Given the description of an element on the screen output the (x, y) to click on. 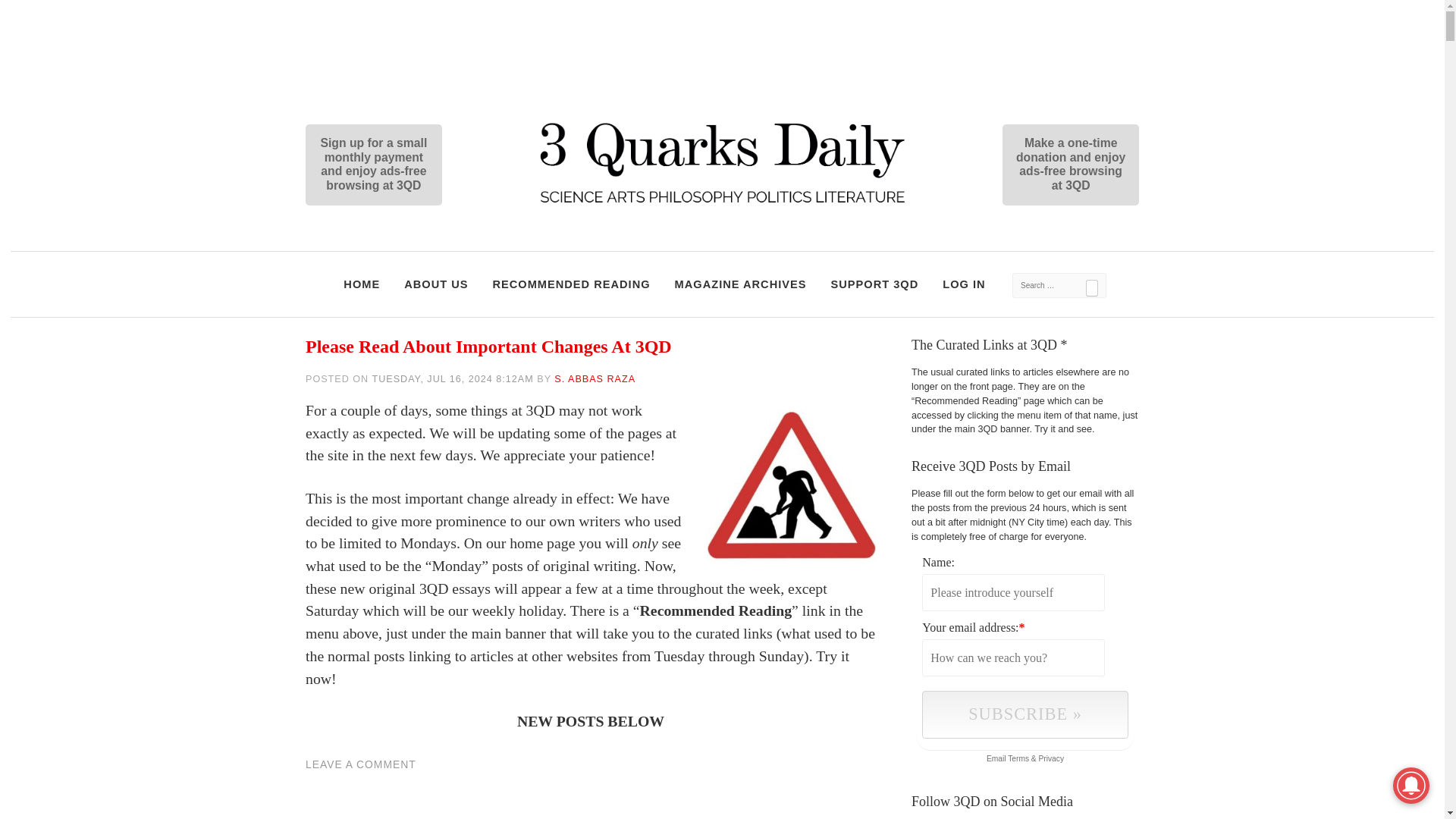
RECOMMENDED READING (570, 284)
click to join (1023, 714)
LOG IN (963, 284)
Email subscriptions terms of service (1018, 758)
Please Read About Important Changes At 3QD (488, 346)
TUESDAY, JUL 16, 2024 8:12AM (451, 378)
S. ABBAS RAZA (594, 378)
Please introduce yourself (1013, 592)
3rd party ad content (721, 44)
HOME (361, 284)
Make a one-time donation and enjoy ads-free browsing at 3QD (1024, 164)
LEAVE A COMMENT (360, 764)
MAGAZINE ARCHIVES (740, 284)
Email subscriptions privacy policy (1051, 758)
